Given the description of an element on the screen output the (x, y) to click on. 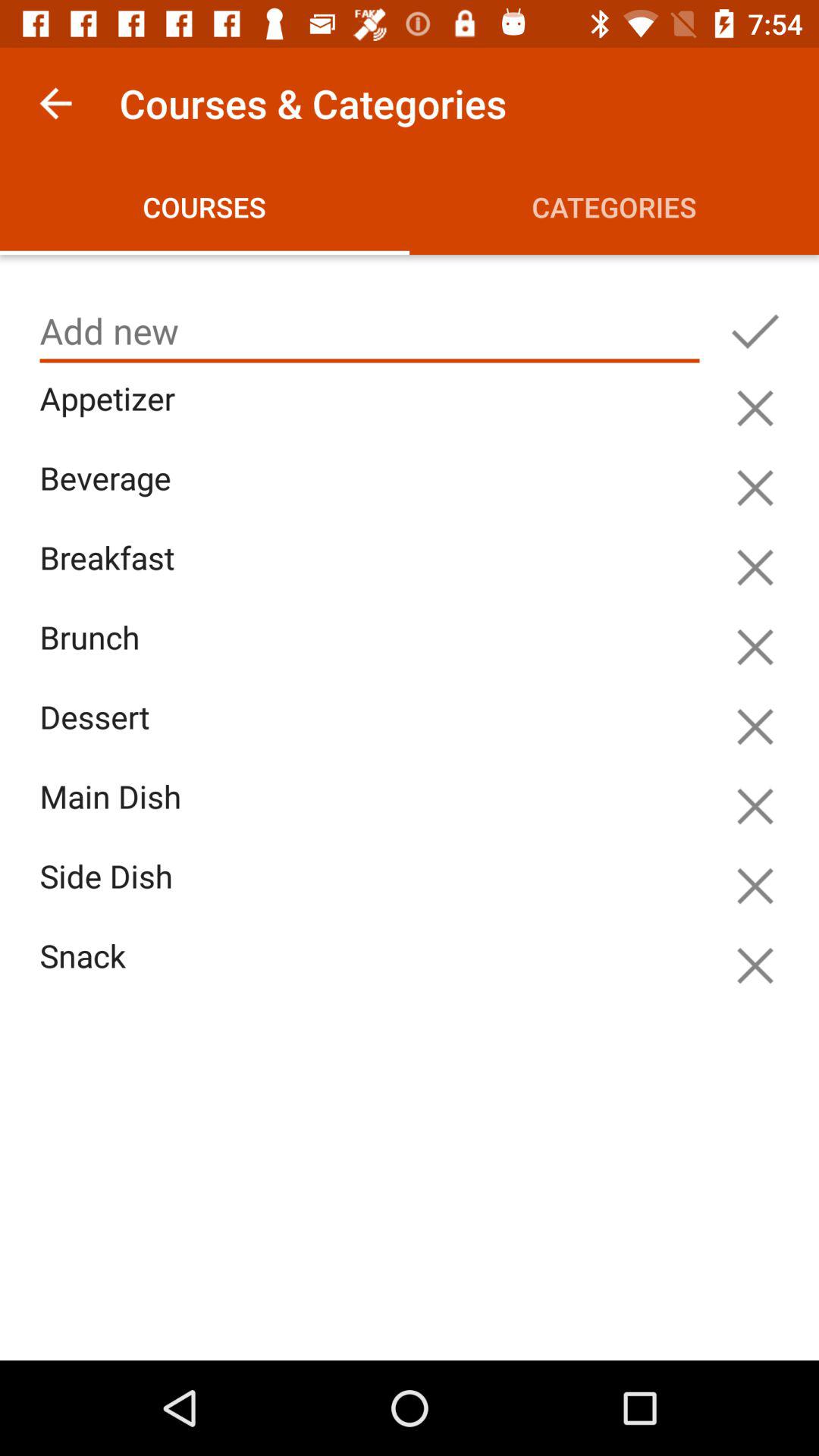
erase option (755, 965)
